Given the description of an element on the screen output the (x, y) to click on. 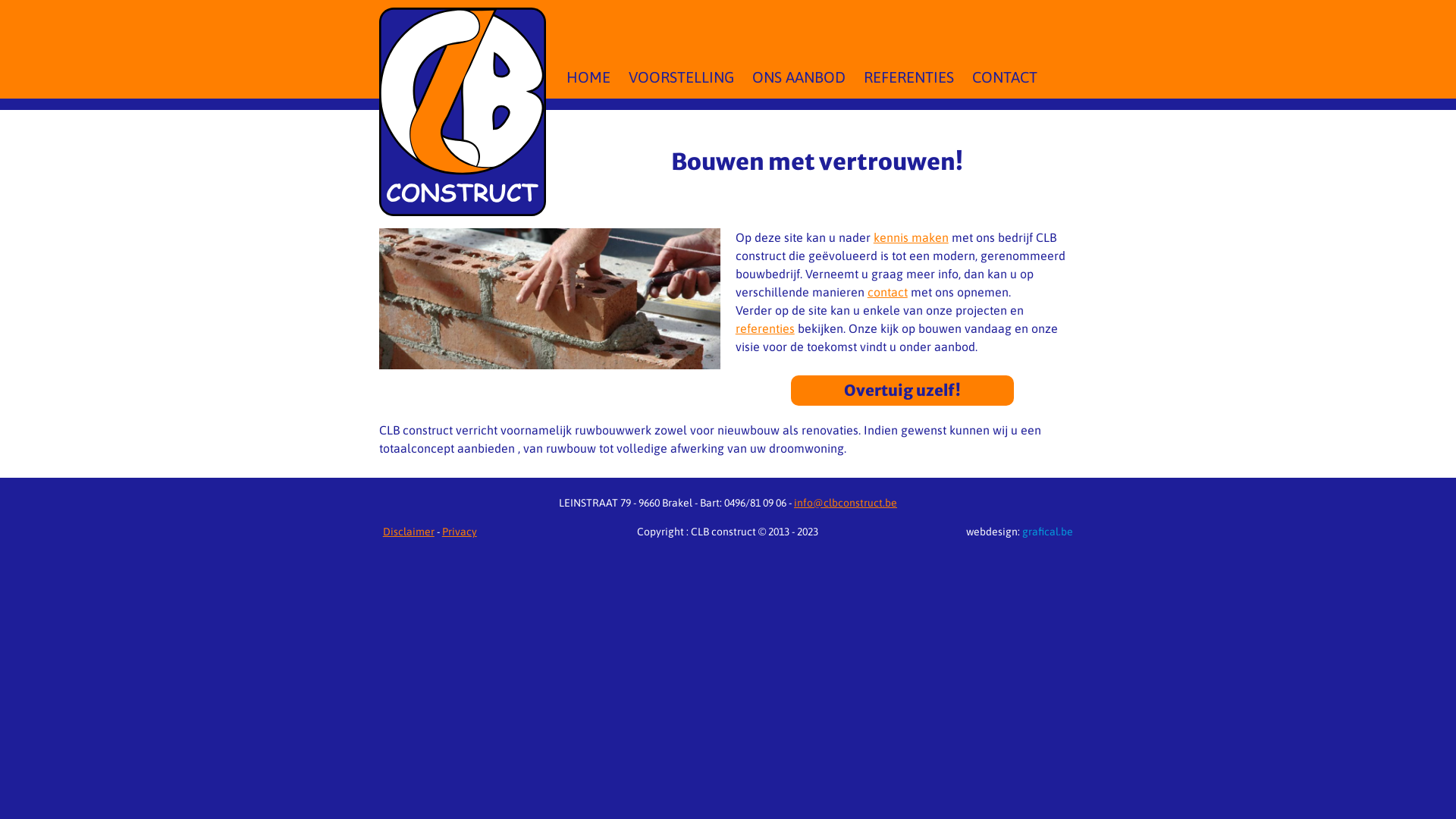
referenties Element type: text (764, 328)
kennis maken Element type: text (910, 237)
VOORSTELLING Element type: text (681, 77)
CONTACT Element type: text (1004, 77)
info@clbconstruct.be Element type: text (845, 502)
contact Element type: text (887, 291)
ONS AANBOD Element type: text (798, 77)
HOME Element type: text (588, 77)
grafical.be Element type: text (1047, 531)
REFERENTIES Element type: text (908, 77)
Privacy Element type: text (459, 531)
Disclaimer Element type: text (408, 531)
Overtuig uzelf! Element type: text (901, 390)
